Given the description of an element on the screen output the (x, y) to click on. 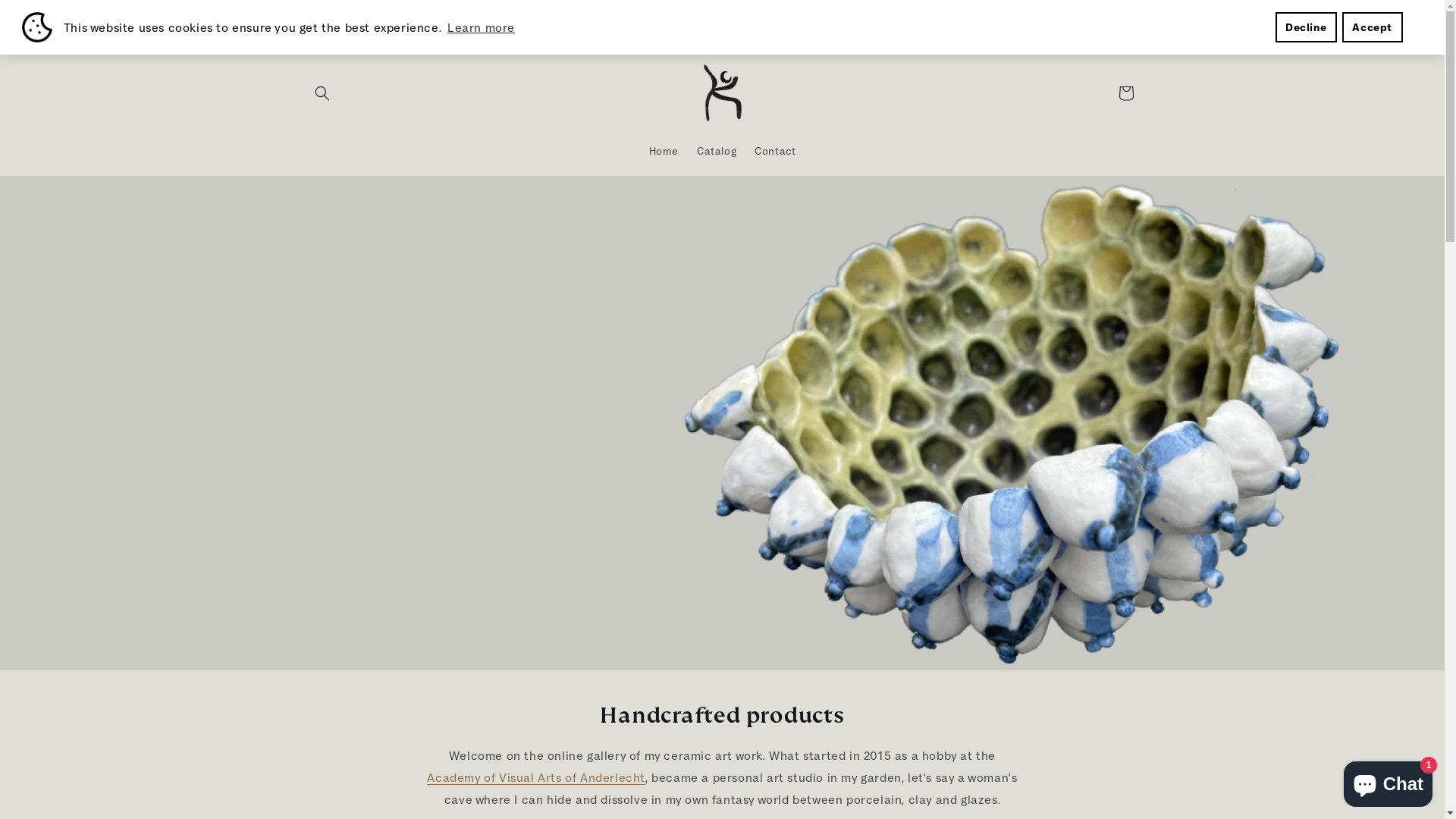
Cart Element type: text (1125, 92)
Accept Element type: text (1372, 27)
Shopify online store chat Element type: hover (1388, 780)
Learn more Element type: text (481, 26)
Decline Element type: text (1305, 27)
Catalog Element type: text (716, 150)
Home Element type: text (663, 150)
Contact Element type: text (774, 150)
Academy of Visual Arts of Anderlecht Element type: text (535, 776)
